Given the description of an element on the screen output the (x, y) to click on. 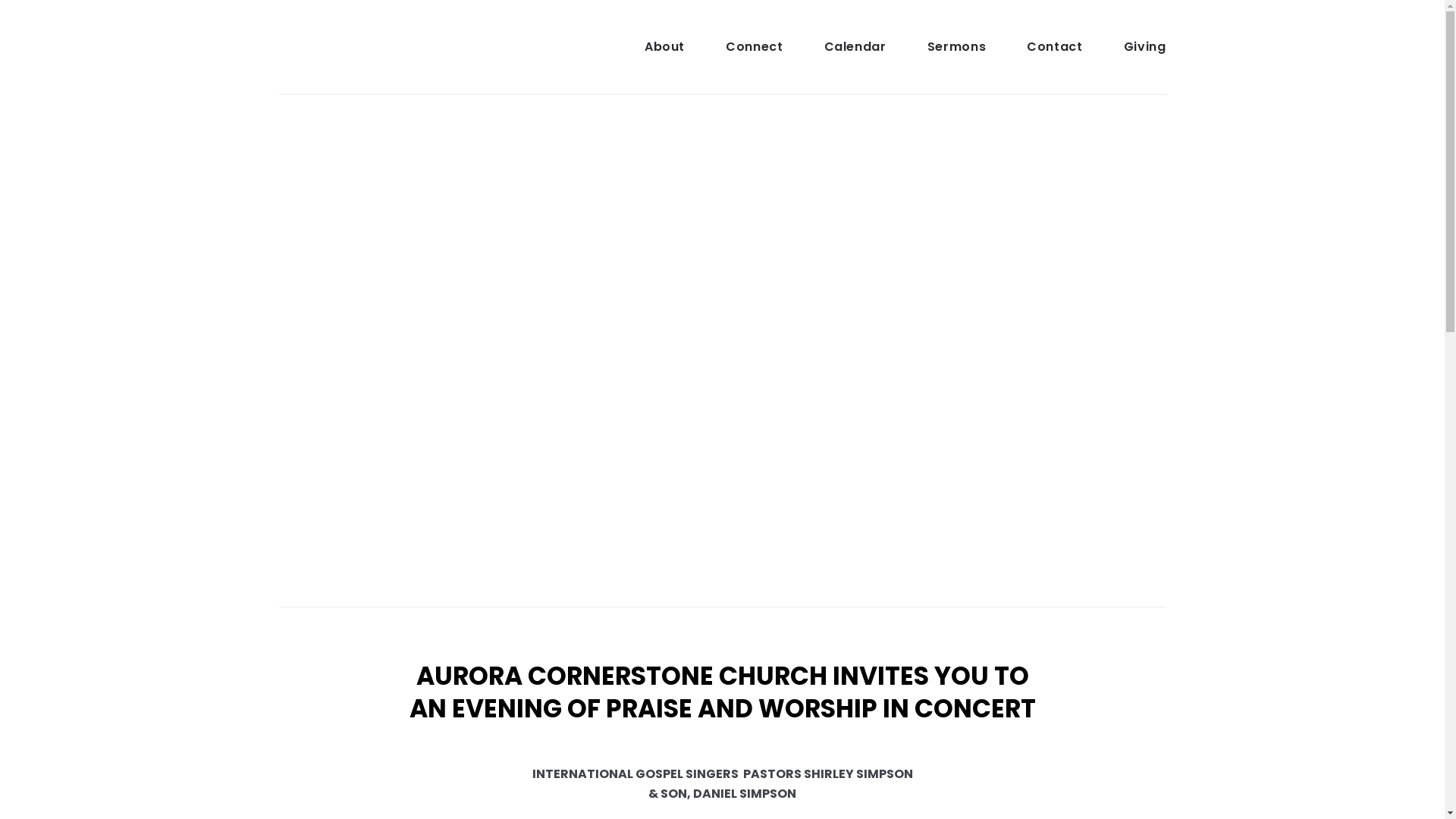
Contact Element type: text (1054, 46)
Calendar Element type: text (855, 46)
Sermons Element type: text (956, 46)
Connect Element type: text (753, 46)
Giving Element type: text (1144, 46)
About Element type: text (664, 46)
